Given the description of an element on the screen output the (x, y) to click on. 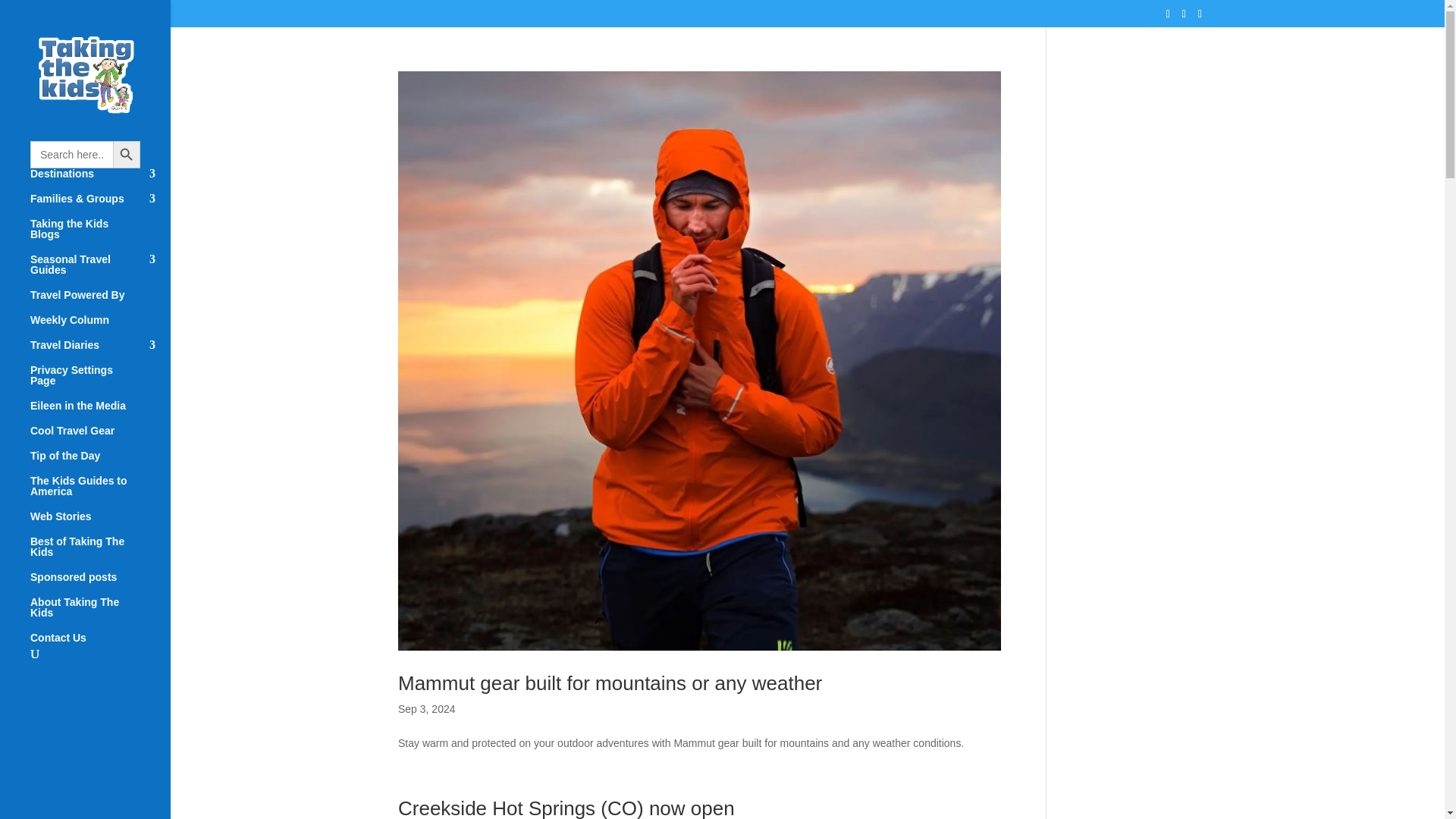
Tip of the Day (100, 462)
Privacy Settings Page (100, 382)
The Kids Guides to America (100, 493)
Destinations (100, 180)
Taking the Kids Blogs (100, 235)
Eileen in the Media (100, 412)
Travel Powered By (100, 301)
Travel Diaries (100, 351)
Cool Travel Gear (100, 437)
Weekly Column (100, 326)
